Given the description of an element on the screen output the (x, y) to click on. 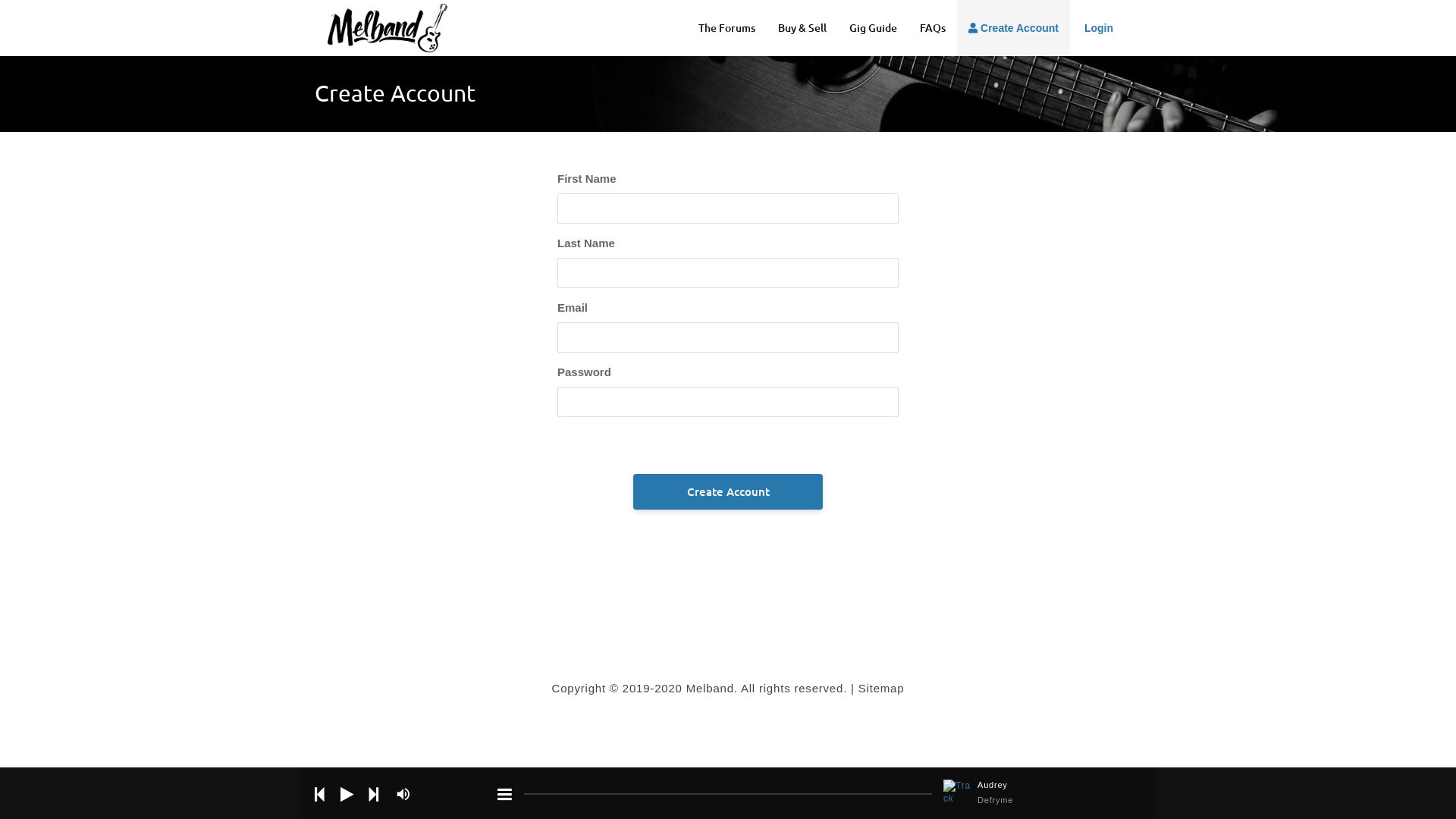
The Forums Element type: text (726, 28)
Buy & Sell Element type: text (801, 28)
Gig Guide Element type: text (872, 28)
Defryme Element type: text (1042, 800)
Create Account Element type: text (1013, 28)
FAQs Element type: text (932, 28)
Login Element type: text (1097, 28)
Audrey Element type: text (1042, 784)
Create Account Element type: text (727, 491)
Sitemap Element type: text (881, 687)
